Given the description of an element on the screen output the (x, y) to click on. 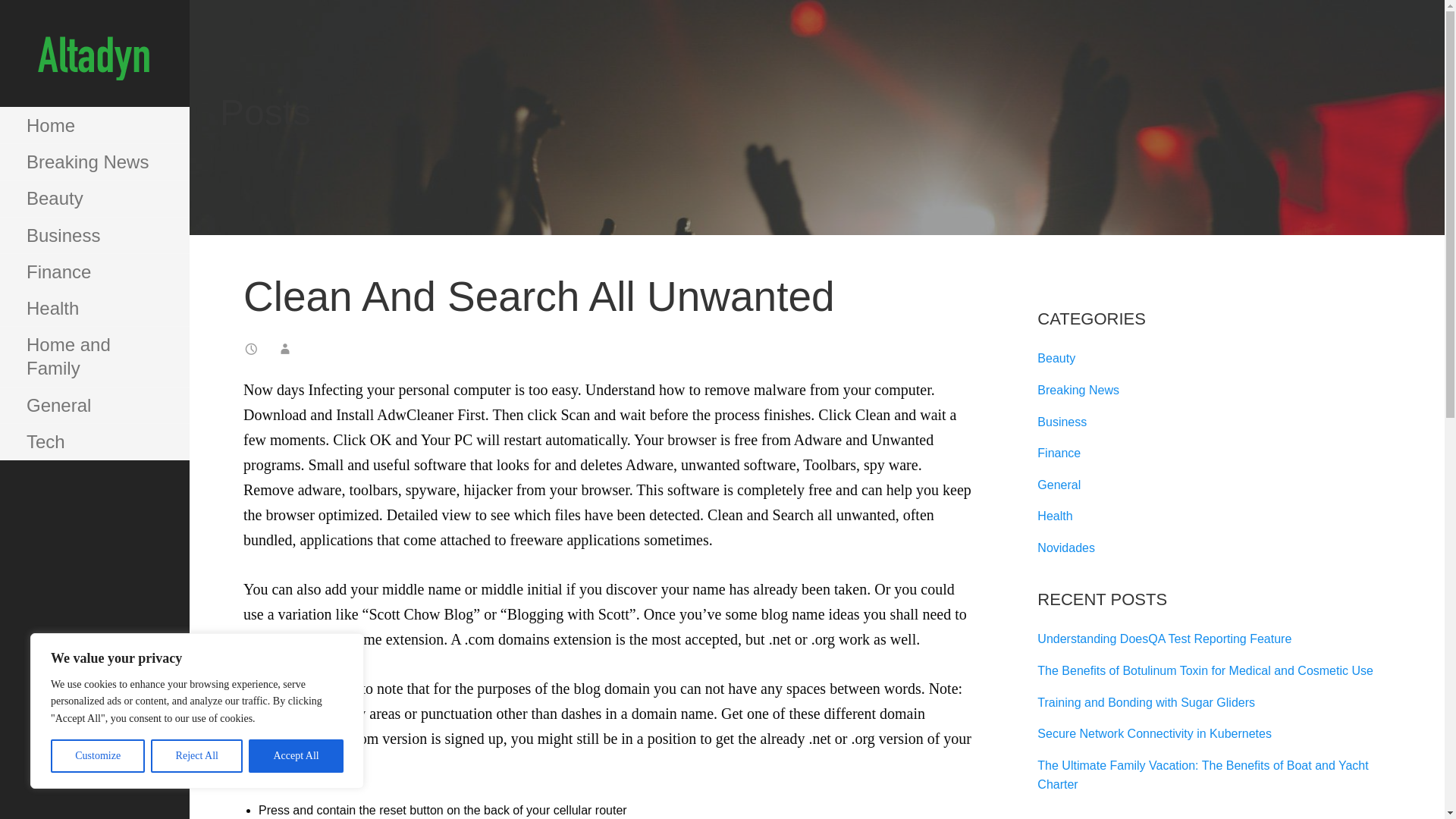
Business (1061, 421)
General (94, 404)
Breaking News (1077, 390)
Finance (94, 271)
Understanding DoesQA Test Reporting Feature (1163, 638)
Home (94, 125)
Home and Family (94, 356)
Customize (97, 756)
Beauty (1055, 358)
Reject All (197, 756)
Beauty (94, 198)
Breaking News (94, 162)
ALTADYN (77, 92)
Health (1053, 515)
Finance (1058, 452)
